Given the description of an element on the screen output the (x, y) to click on. 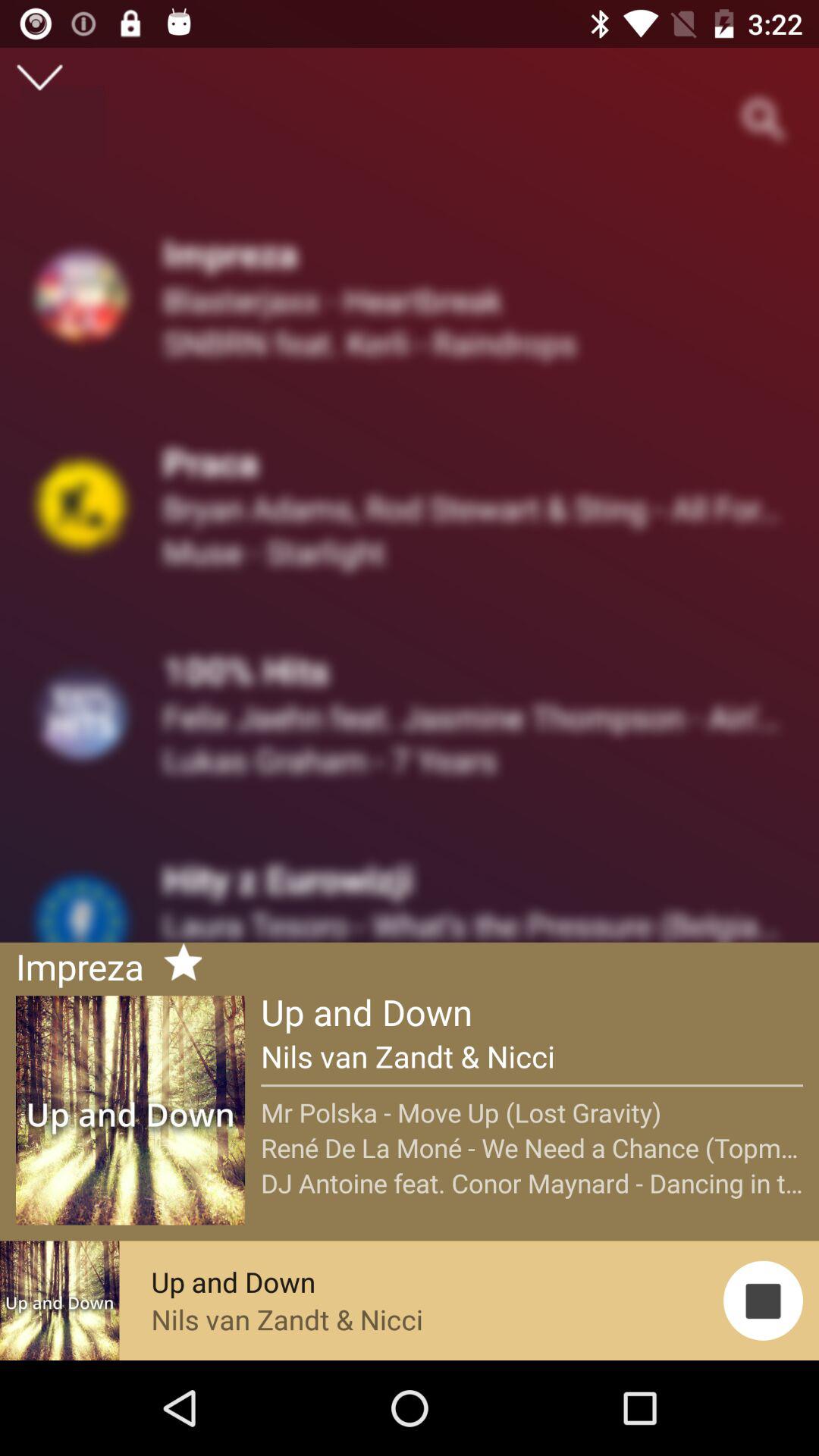
open the icon next to nils van zandt icon (763, 1300)
